Given the description of an element on the screen output the (x, y) to click on. 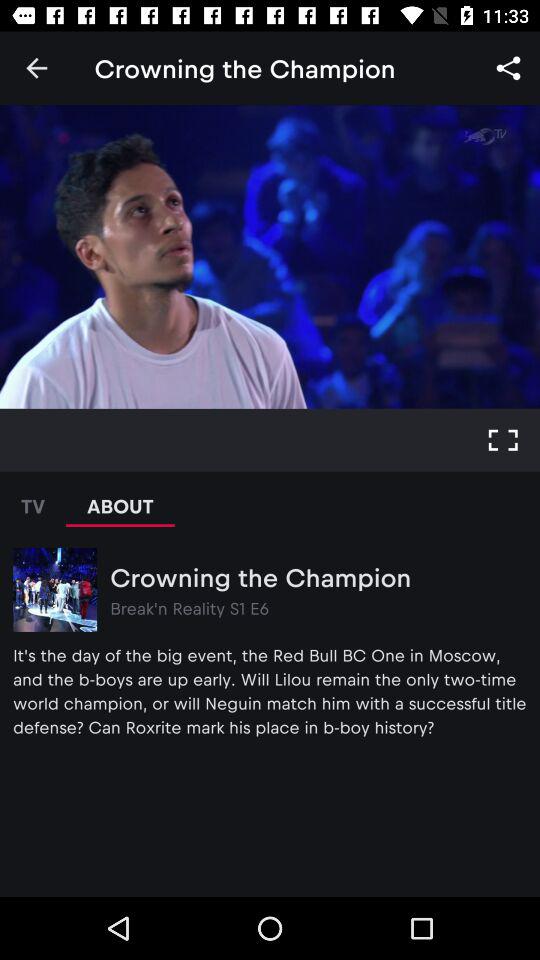
click on icon next to the text crowing the champion (504, 67)
